Given the description of an element on the screen output the (x, y) to click on. 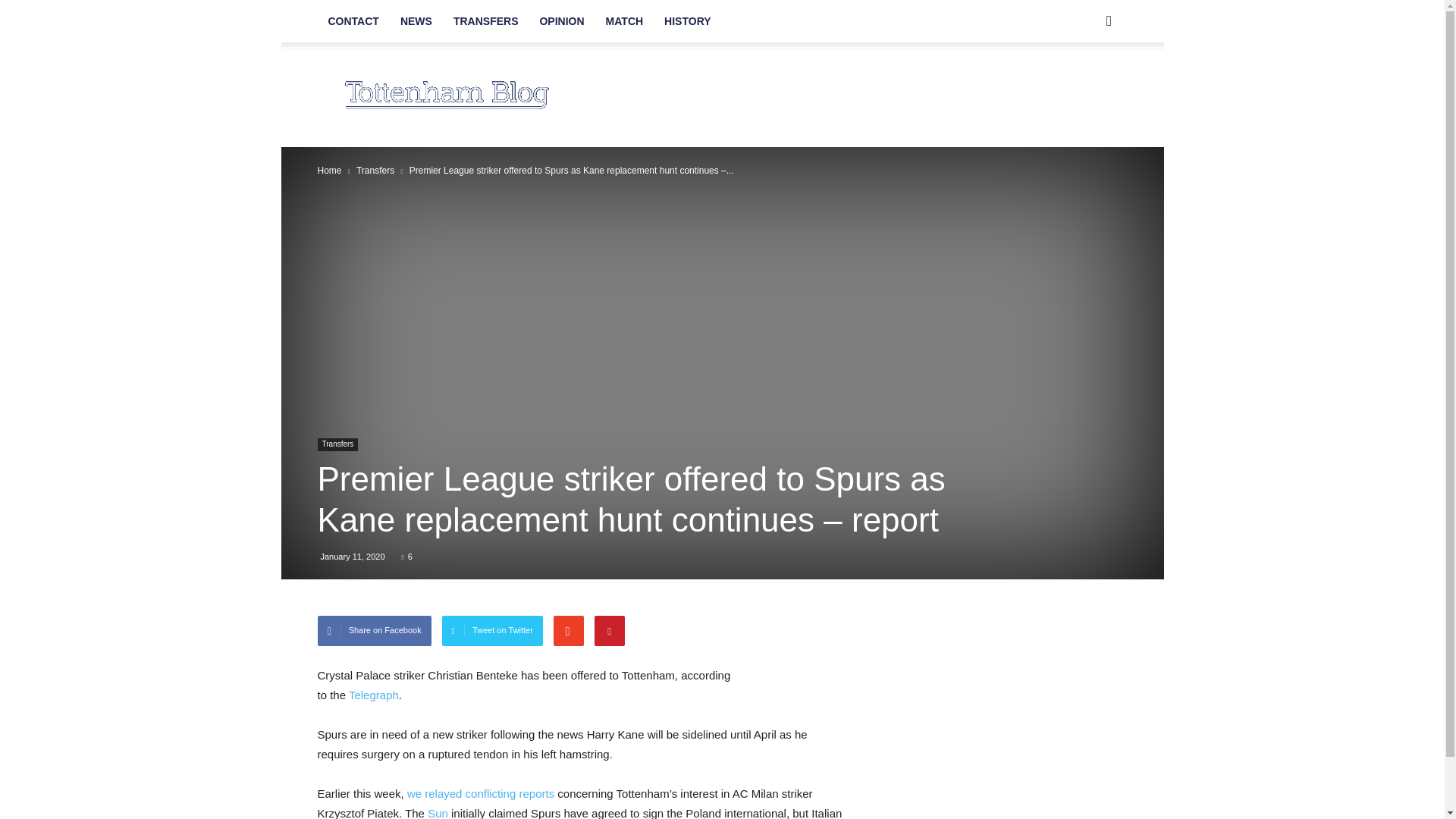
HISTORY (686, 21)
Transfers (375, 170)
Tweet on Twitter (492, 630)
MATCH (624, 21)
View all posts in Transfers (375, 170)
CONTACT (352, 21)
Home (328, 170)
TRANSFERS (485, 21)
Share on Facebook (373, 630)
6 (406, 556)
